Given the description of an element on the screen output the (x, y) to click on. 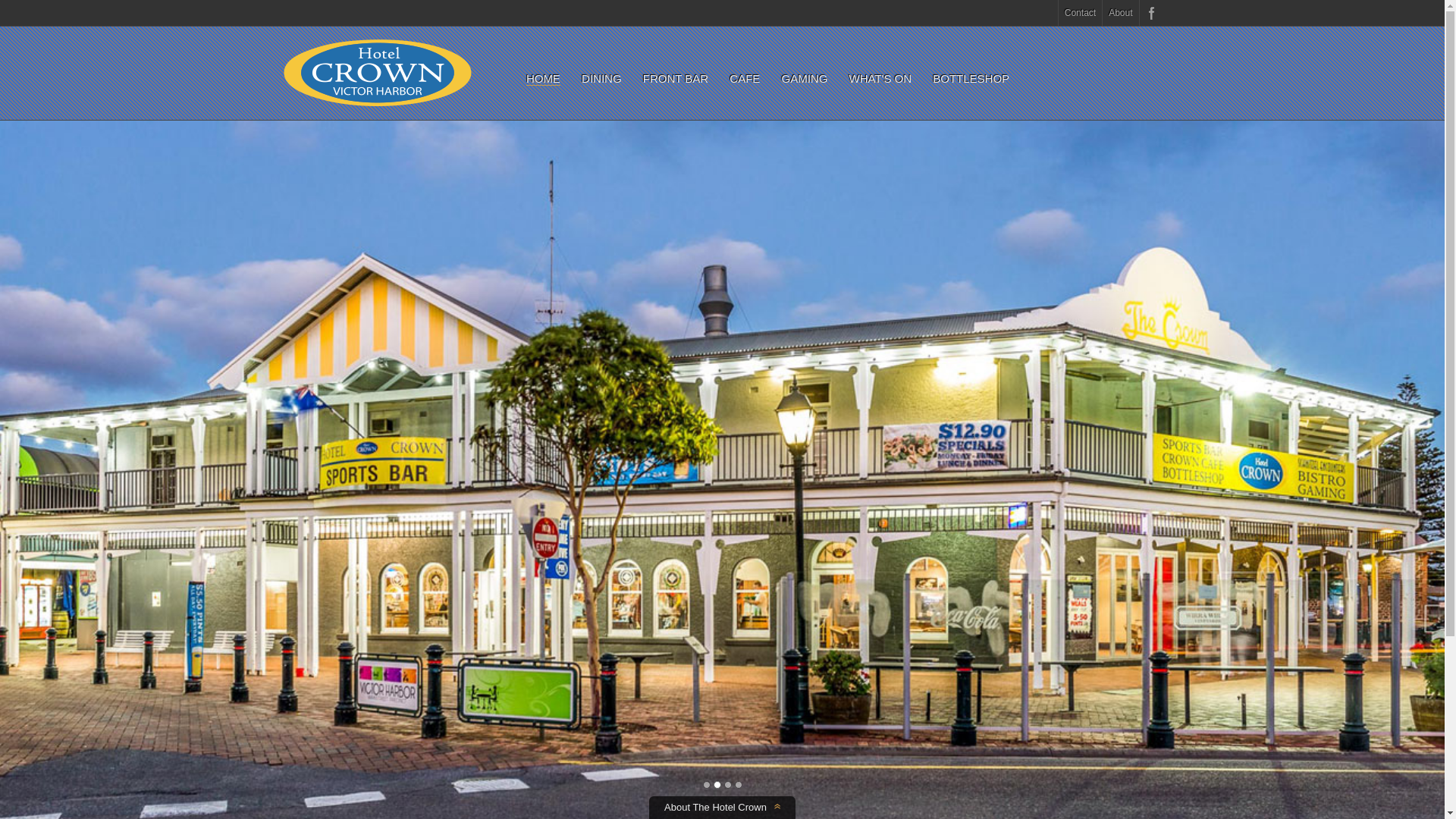
BOTTLESHOP Element type: text (970, 78)
HOME Element type: text (543, 78)
DINING Element type: text (601, 78)
CAFE Element type: text (744, 78)
Facebook Element type: text (1150, 12)
Contact Element type: text (1079, 12)
4 Element type: text (737, 784)
FRONT BAR Element type: text (675, 78)
GAMING Element type: text (804, 78)
1 Element type: text (705, 784)
3 Element type: text (727, 784)
2 Element type: text (716, 784)
WHAT'S ON Element type: text (880, 78)
About Element type: text (1120, 12)
